Given the description of an element on the screen output the (x, y) to click on. 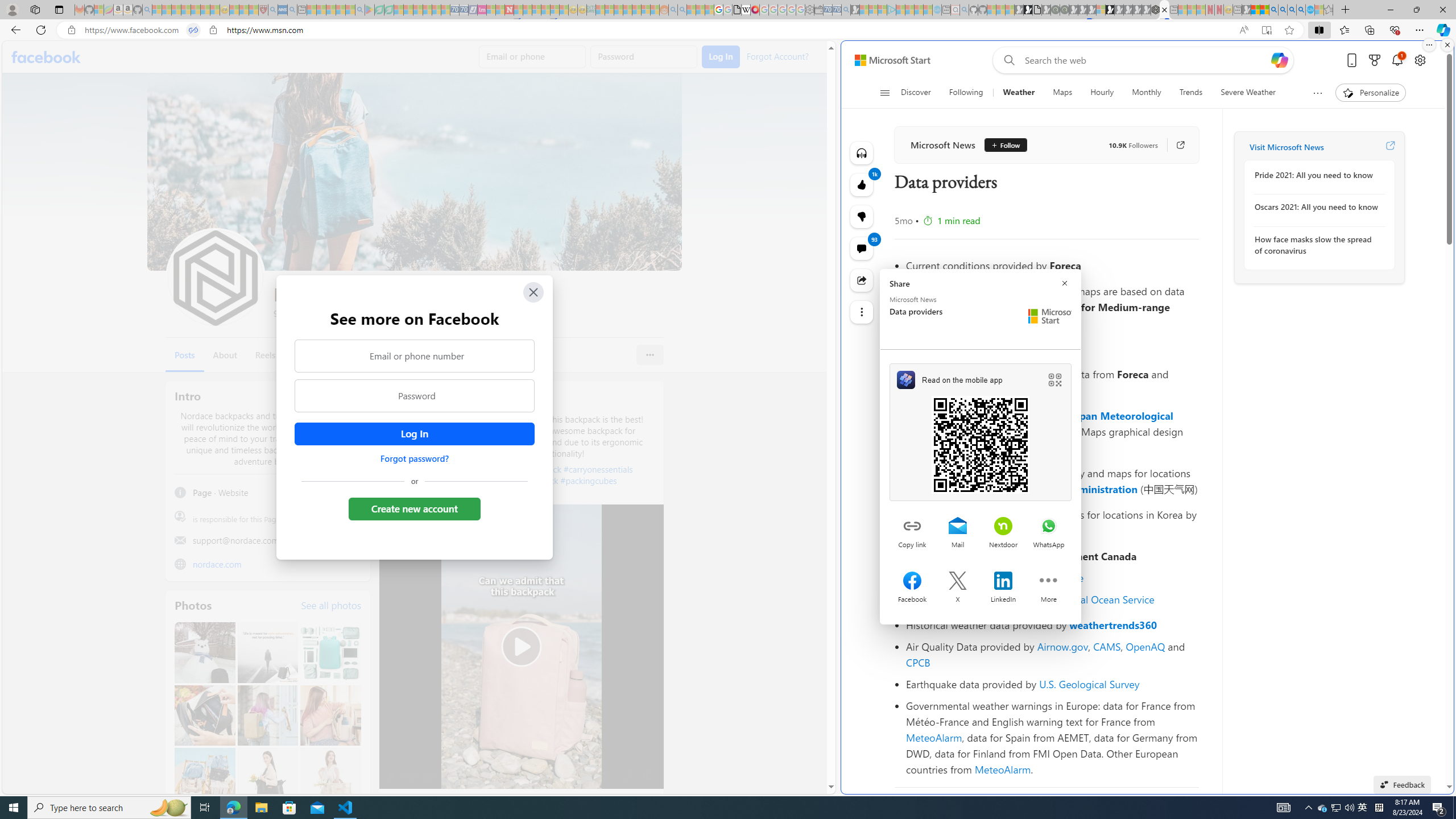
Play Zoo Boom in your browser | Games from Microsoft Start (1027, 9)
Data providers (1163, 9)
Earthquake data provided by U.S. Geological Survey (1051, 684)
Bing AI - Search (1272, 9)
Future Focus Report 2024 - Sleeping (1064, 9)
Lightning data provided by Nowcast.de (1051, 577)
Historical weather data provided by weathertrends360 (1051, 624)
Go to publisher's site (1174, 144)
